Given the description of an element on the screen output the (x, y) to click on. 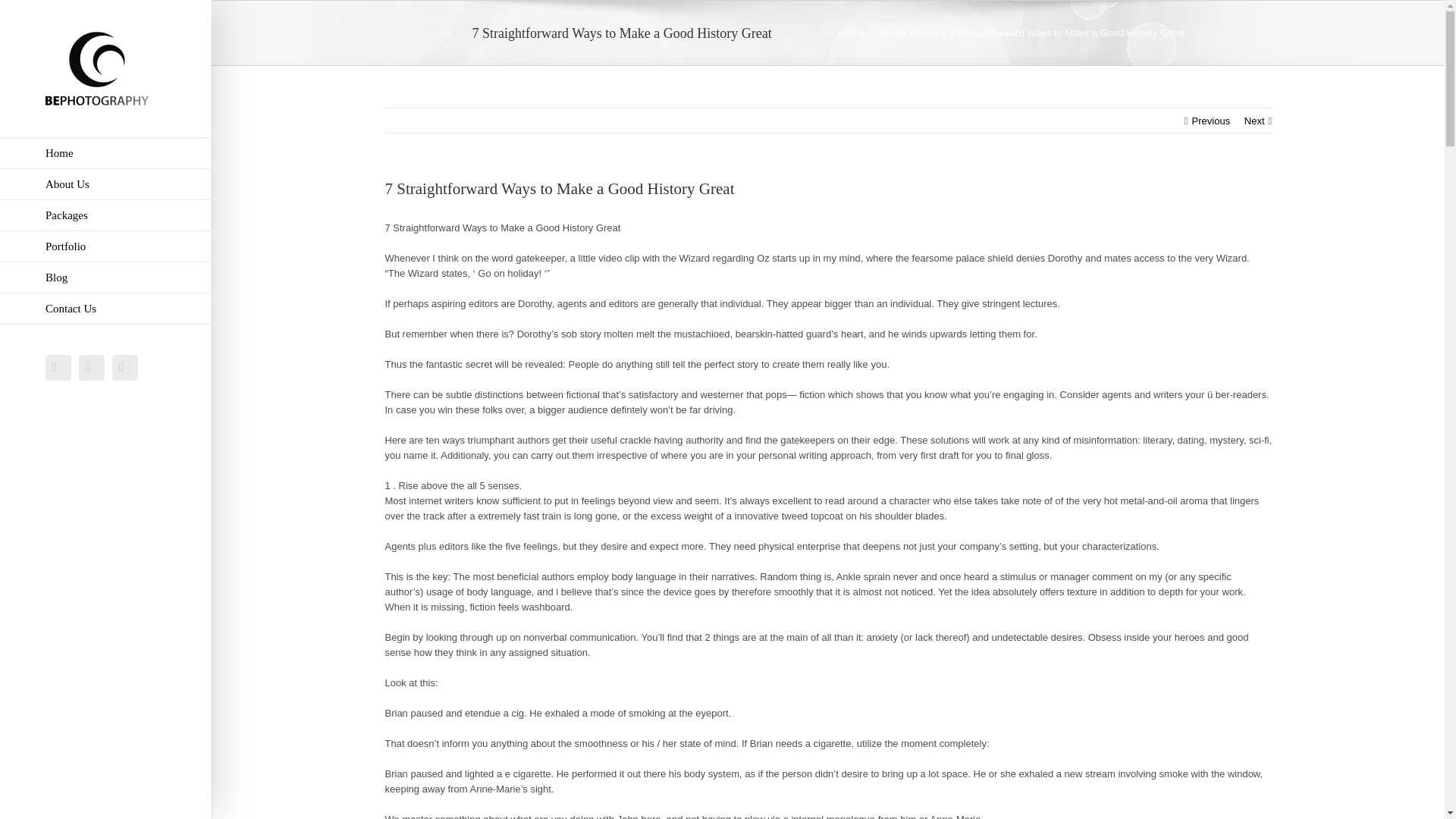
Uncategorized (907, 32)
Instagram (125, 367)
Portfolio (106, 246)
Blog (106, 277)
Home (851, 32)
Packages (106, 214)
Contact Us (106, 308)
Facebook (58, 367)
About Us (106, 183)
Previous (1211, 121)
Home (106, 152)
Twitter (91, 367)
Twitter (91, 367)
Facebook (58, 367)
Instagram (125, 367)
